Given the description of an element on the screen output the (x, y) to click on. 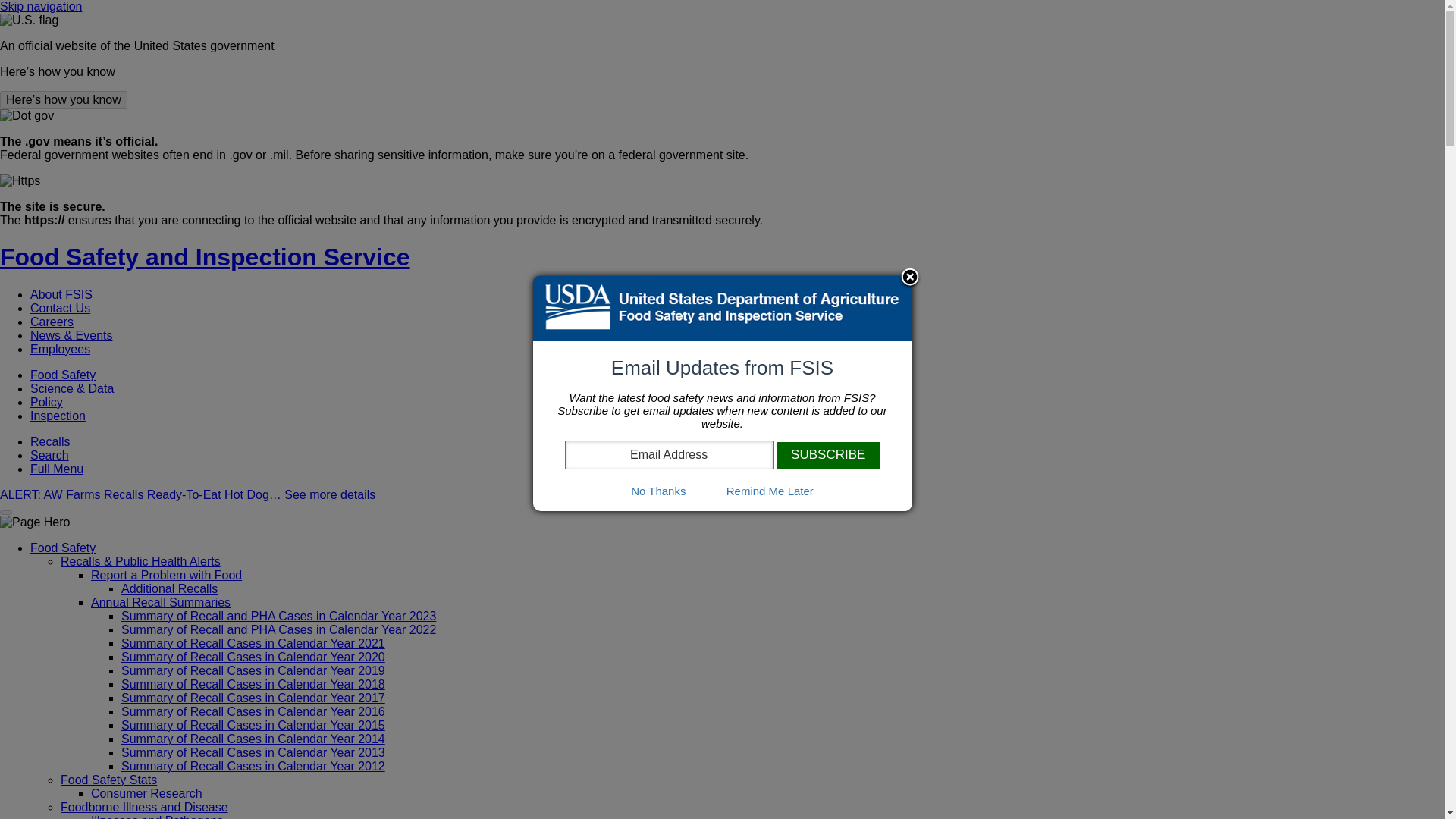
Search (49, 454)
Skip navigation (41, 6)
Report a Problem with Food (165, 574)
Summary of Recall and PHA Cases in Calendar Year 2022 (277, 629)
Summary of Recall Cases in Calendar Year 2017 (252, 697)
Summary of Recall Cases in Calendar Year 2016 (252, 711)
Summary of Recall Cases in Calendar Year 2015 (252, 725)
Inspection (57, 415)
Summary of Recall Cases in Calendar Year 2014 (252, 738)
Full Menu (56, 468)
Policy (46, 401)
Food Safety (63, 374)
About FSIS (61, 294)
Contact Us (60, 308)
Annual Recall Summaries (160, 602)
